Given the description of an element on the screen output the (x, y) to click on. 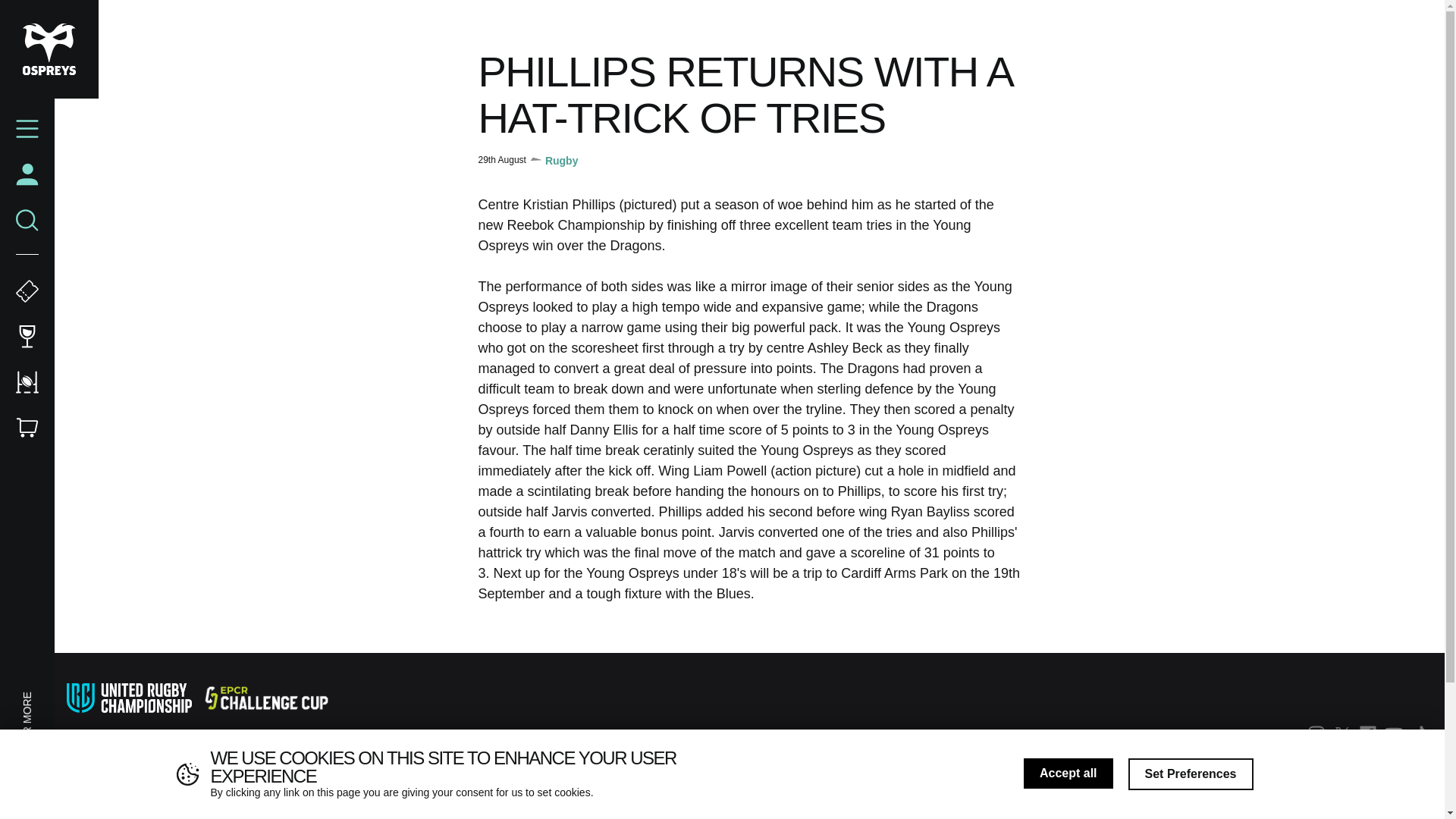
NPTC (495, 754)
Instagram (1315, 733)
The Consumer Helpline (246, 754)
European Challenge Cup (266, 697)
TikTok (1419, 733)
Search (27, 219)
Sword (371, 753)
SCROLL FOR MORE (71, 699)
Menu Closed (27, 128)
